Given the description of an element on the screen output the (x, y) to click on. 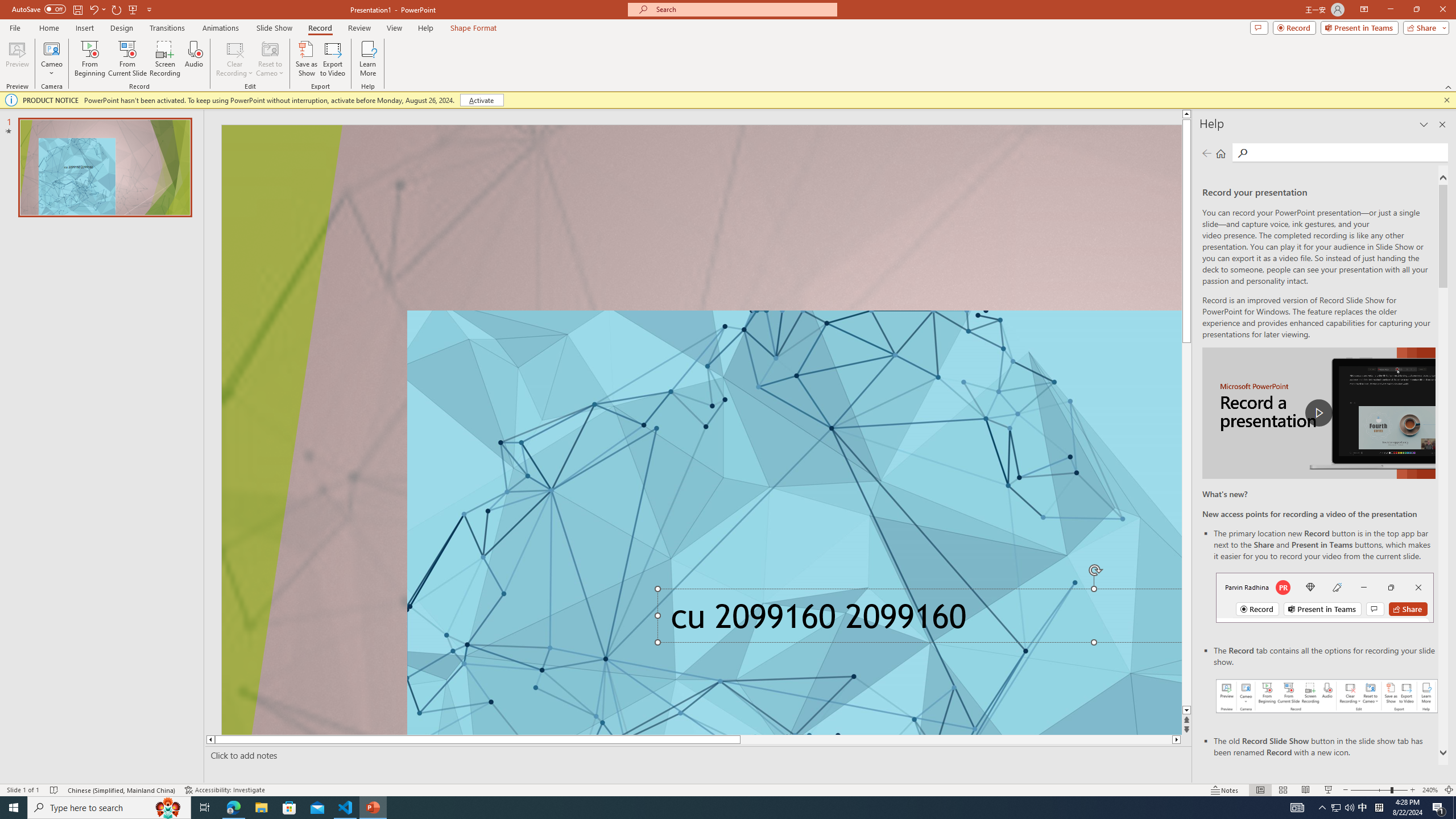
Reading View (1305, 790)
Save (77, 9)
Quick Access Toolbar (82, 9)
Collapse the Ribbon (1448, 86)
Insert (83, 28)
Zoom In (1412, 790)
Undo (96, 9)
play Record a Presentation (1318, 412)
Transitions (167, 28)
Slide Show (273, 28)
Review (359, 28)
Clear Recording (234, 58)
Home (48, 28)
From Beginning (133, 9)
An abstract genetic concept (701, 429)
